Given the description of an element on the screen output the (x, y) to click on. 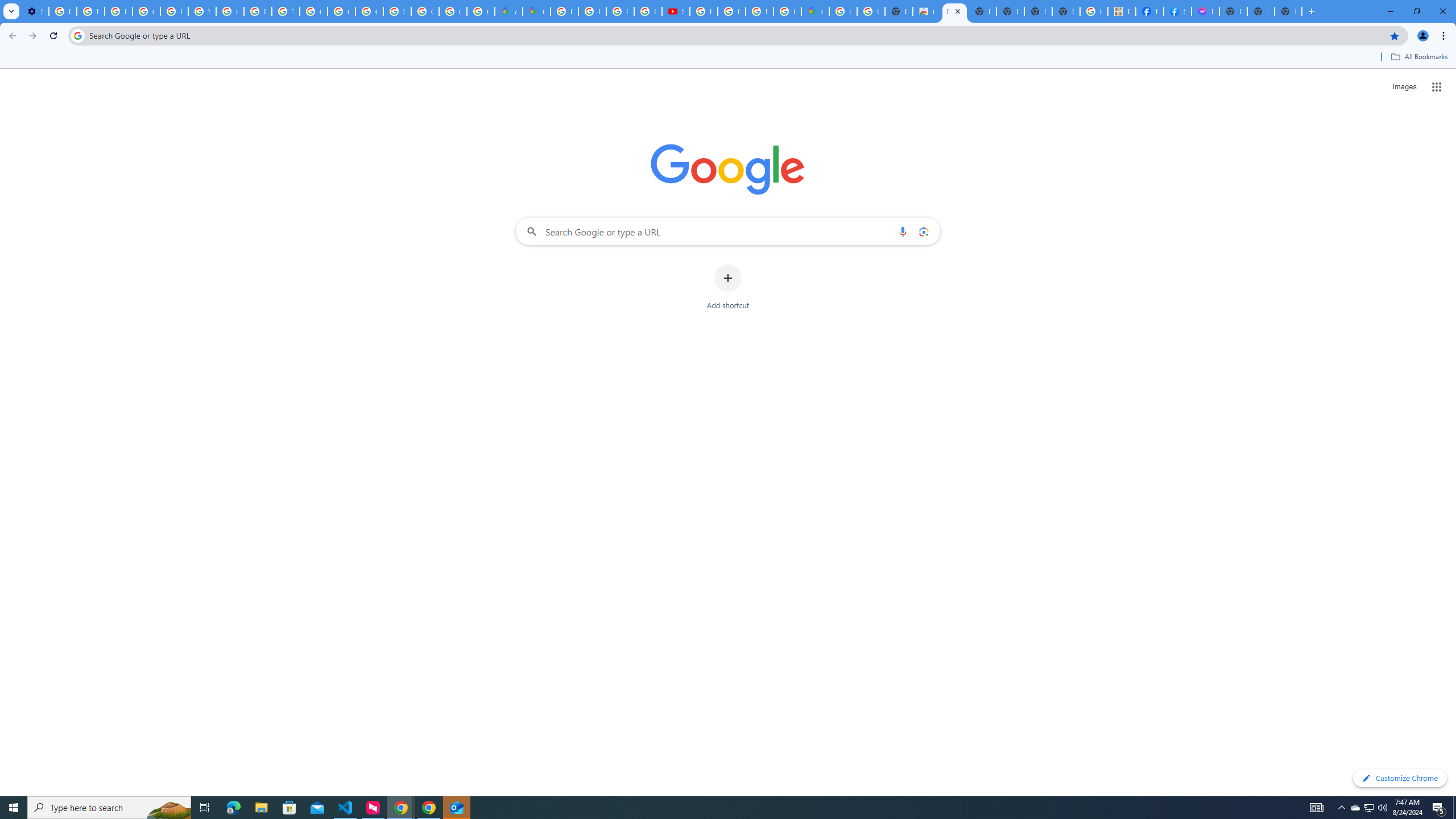
Messenger (1205, 11)
Delete photos & videos - Computer - Google Photos Help (62, 11)
Privacy Help Center - Policies Help (592, 11)
Learn how to find your photos - Google Photos Help (90, 11)
Privacy Help Center - Policies Help (620, 11)
https://scholar.google.com/ (229, 11)
